Given the description of an element on the screen output the (x, y) to click on. 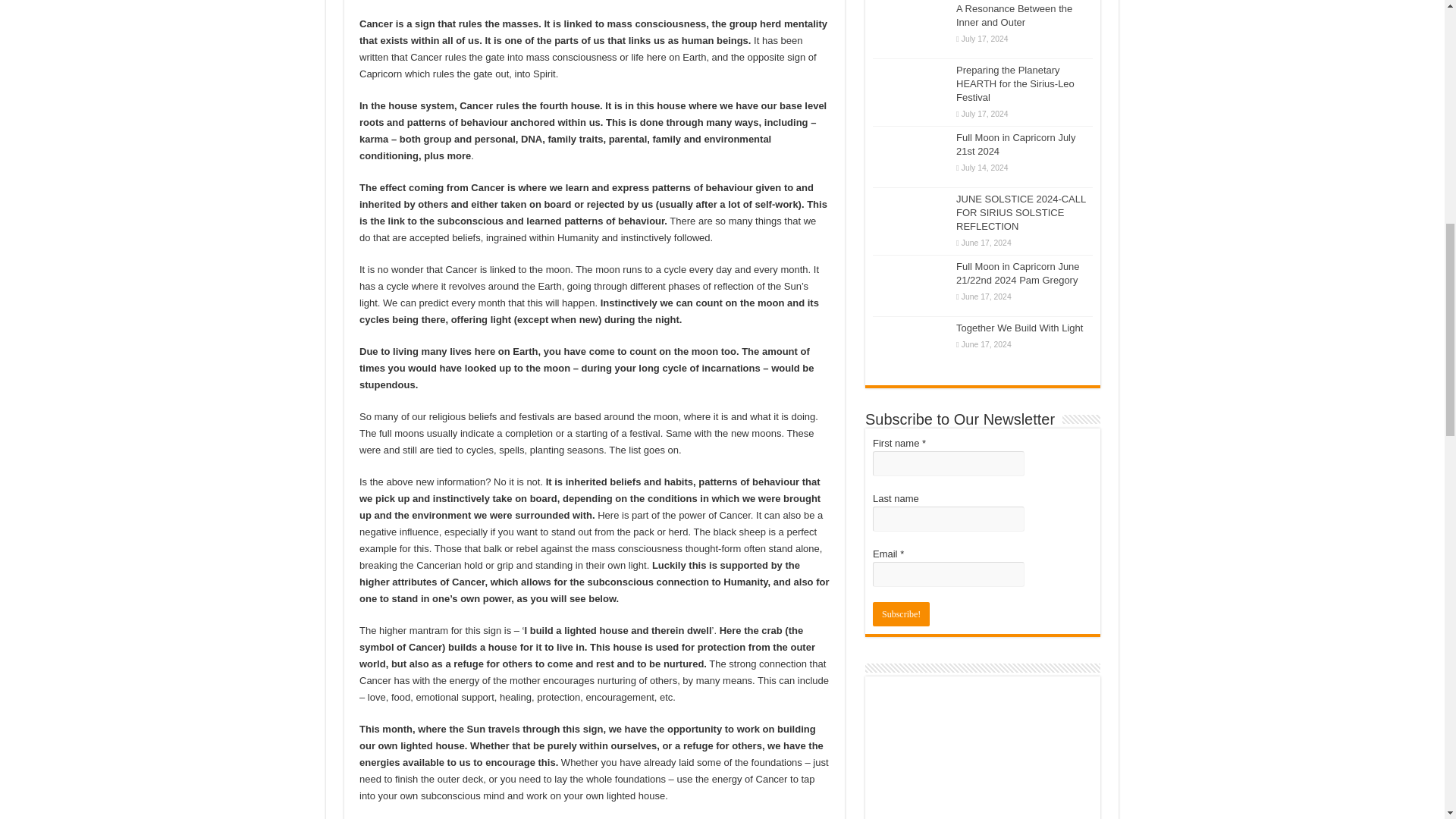
Subscribe! (901, 613)
